Given the description of an element on the screen output the (x, y) to click on. 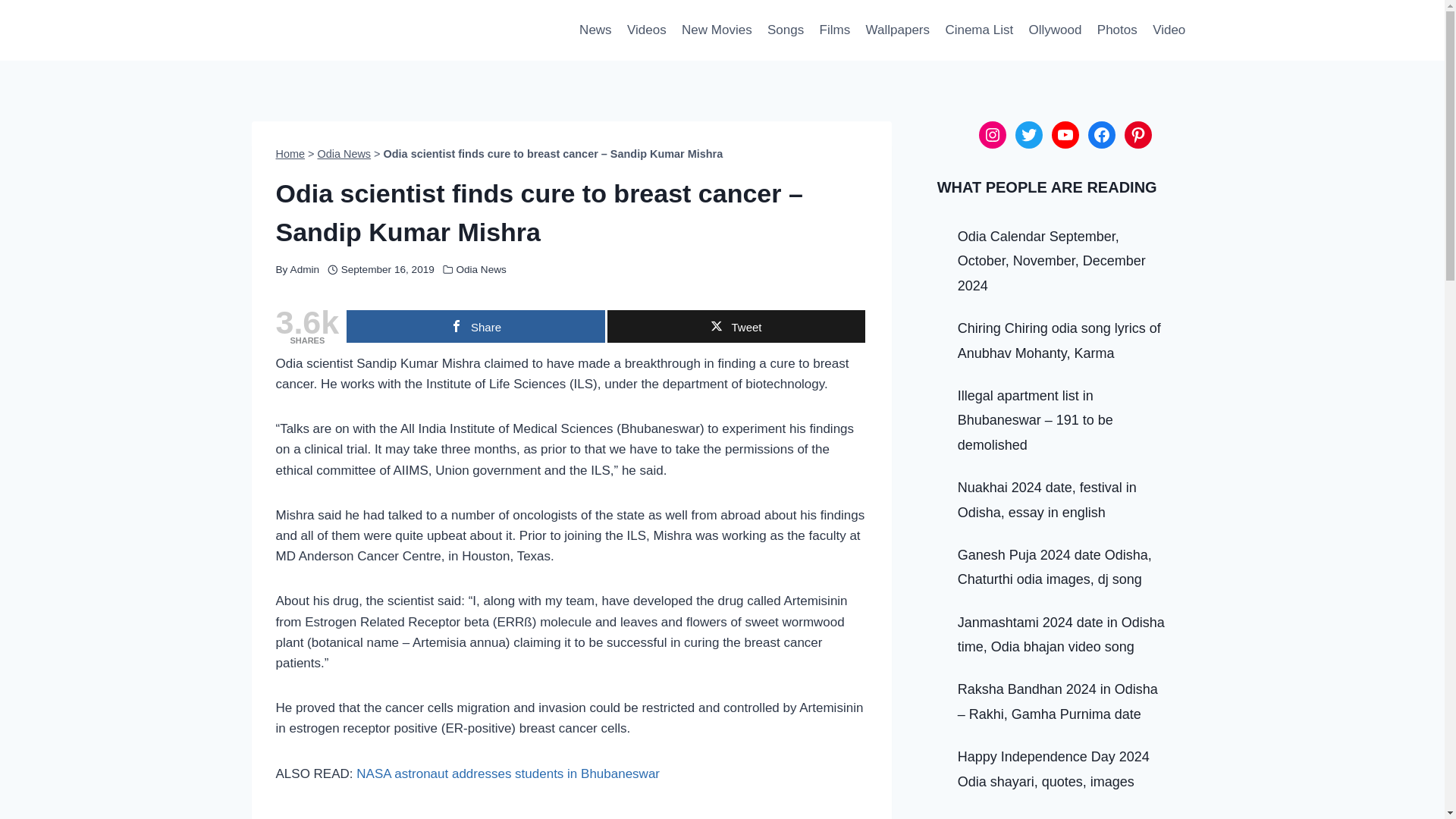
Odia News (344, 153)
Videos (647, 30)
Tweet (735, 326)
Home (290, 153)
Video (1168, 30)
News (596, 30)
New Movies (717, 30)
Wallpapers (897, 30)
NASA astronaut addresses students in Bhubaneswar (507, 773)
Ollywood (1054, 30)
